Given the description of an element on the screen output the (x, y) to click on. 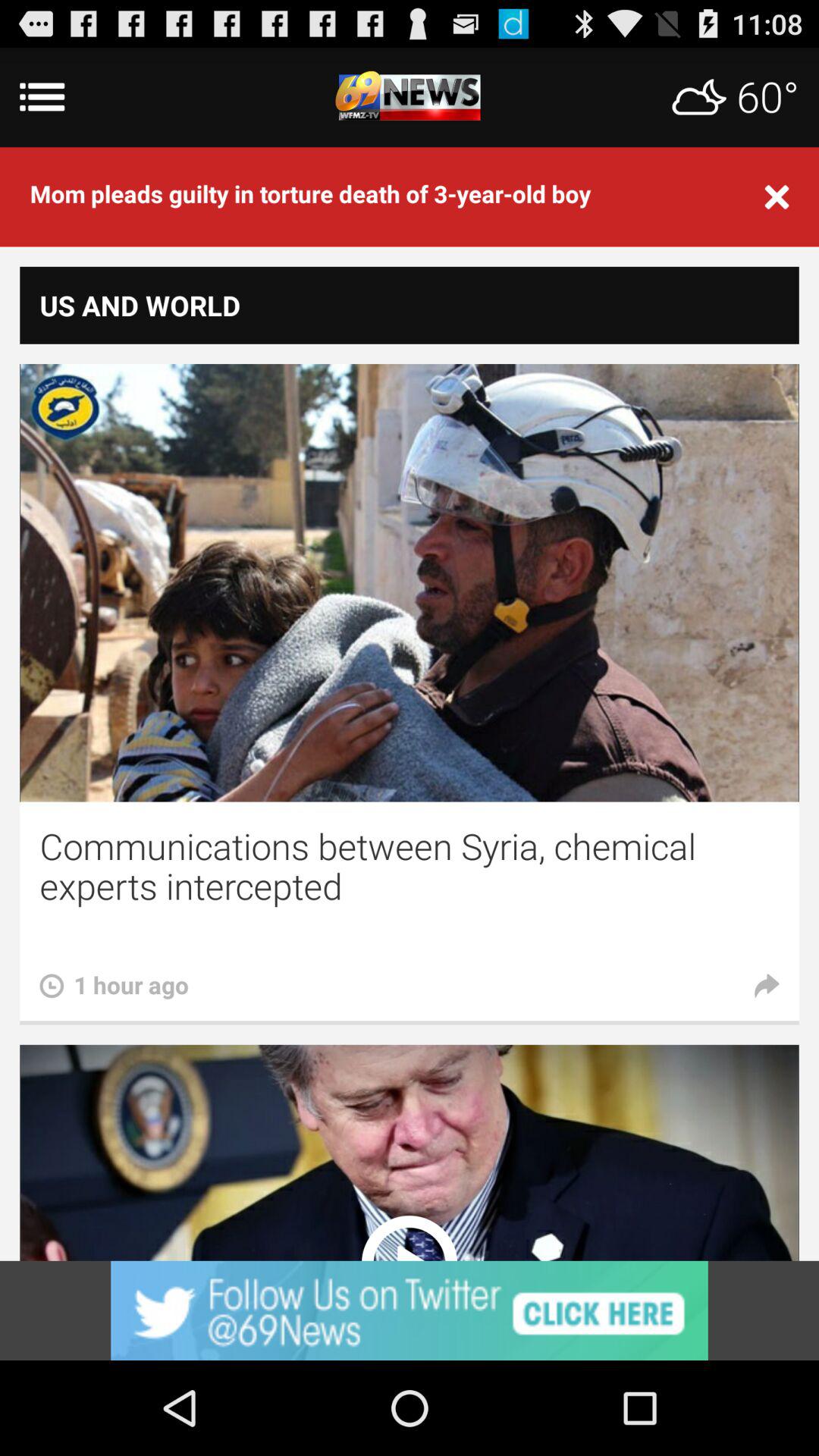
refresh page (409, 97)
